Given the description of an element on the screen output the (x, y) to click on. 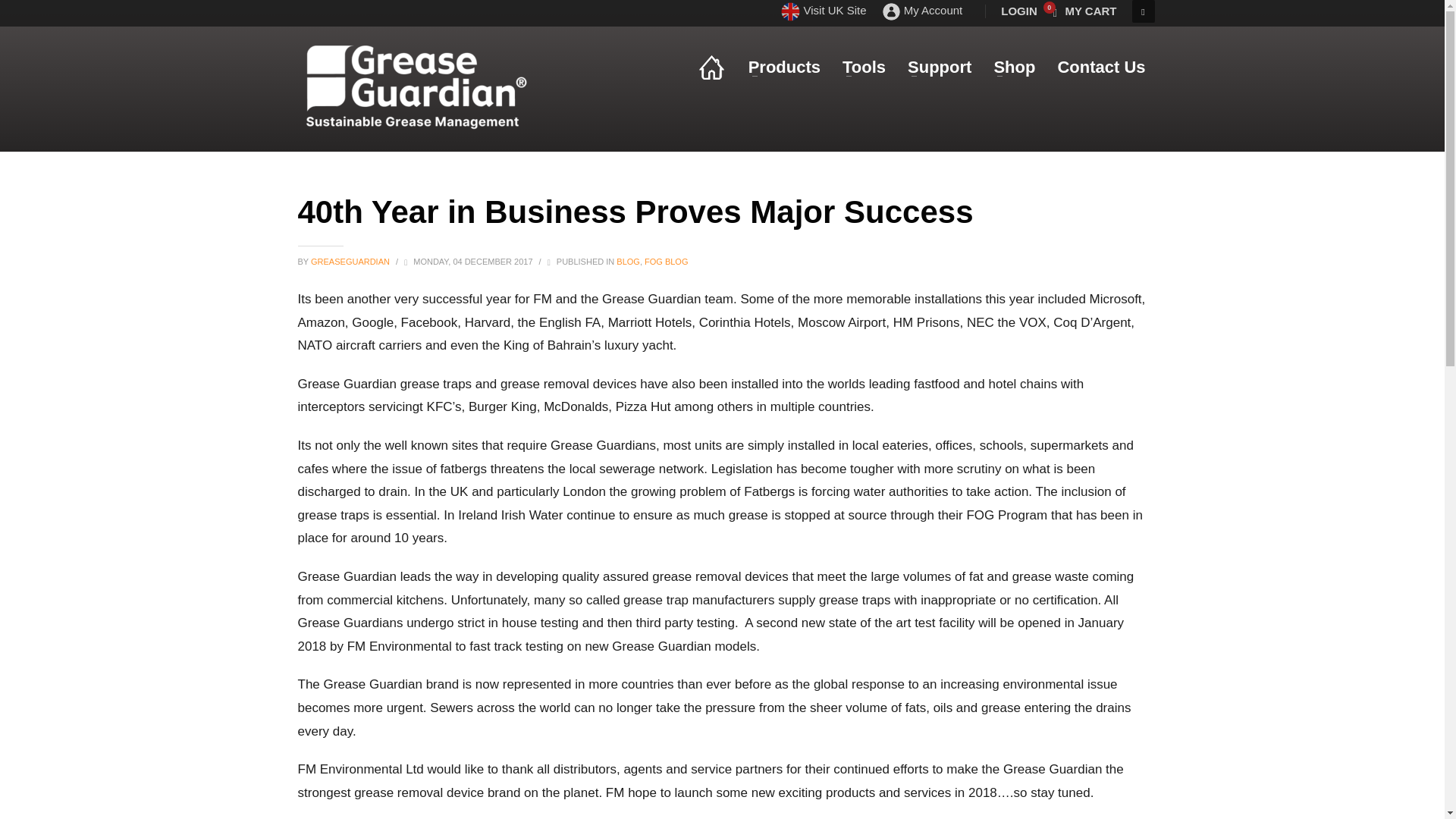
GREASEGUARDIAN (351, 261)
My Account (922, 10)
The Leading Choice for Commercial Grease Removal Units (421, 75)
BLOG (627, 261)
View your shopping cart (1084, 11)
Support (938, 66)
FOG BLOG (666, 261)
Contact Us (1101, 66)
Visit UK Site (823, 10)
LOGIN (1018, 11)
